Given the description of an element on the screen output the (x, y) to click on. 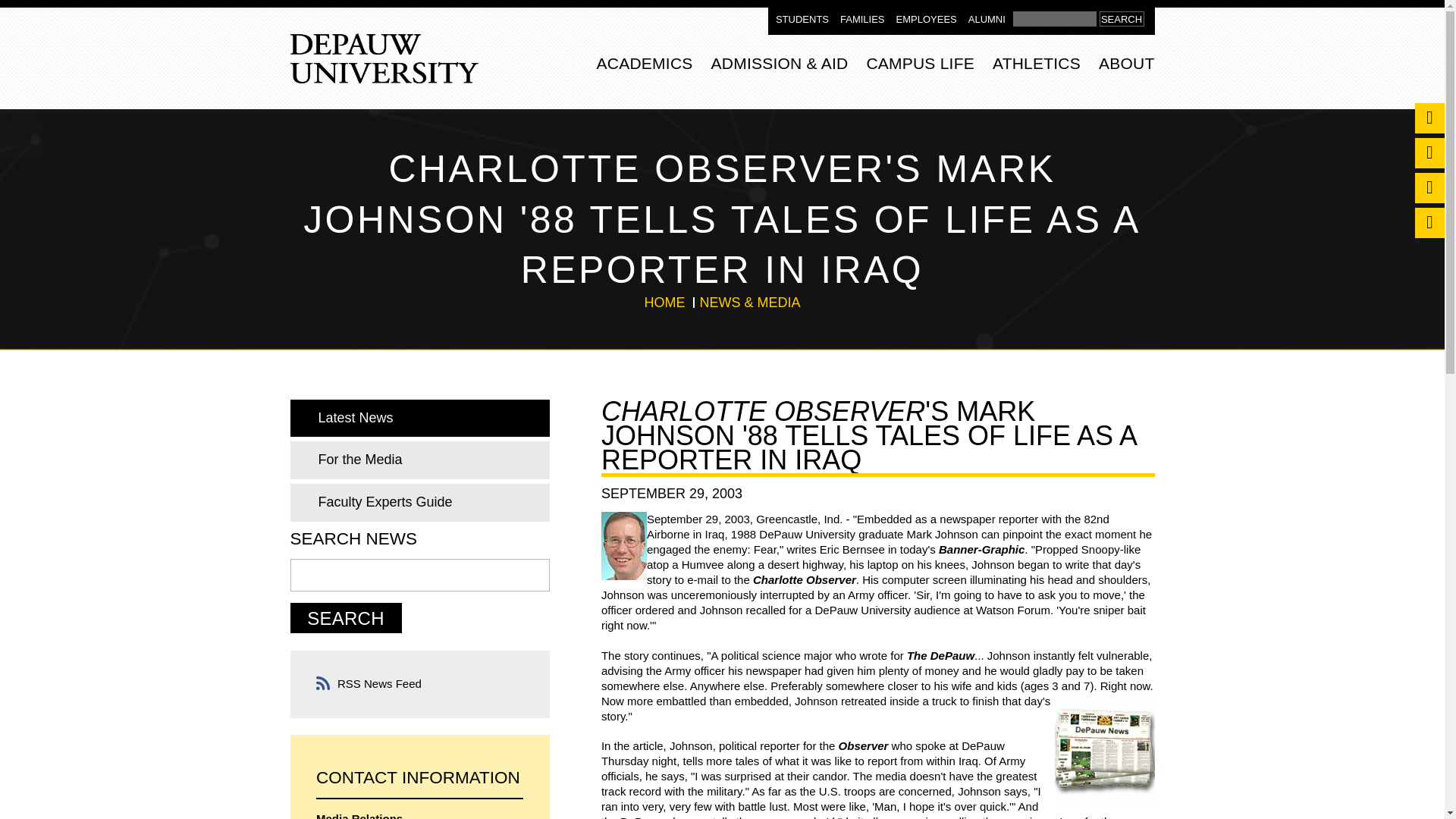
STUDENTS (802, 19)
ALUMNI (987, 19)
EMPLOYEES (926, 19)
DePauw University (383, 58)
Search (1054, 18)
CAMPUS LIFE (919, 61)
FAMILIES (862, 19)
ACADEMICS (644, 61)
SEARCH (1121, 18)
SEARCH (1121, 18)
ATHLETICS (1036, 61)
SEARCH (1121, 18)
ABOUT (1126, 61)
Search (345, 617)
DePauw University Homepage (383, 58)
